Given the description of an element on the screen output the (x, y) to click on. 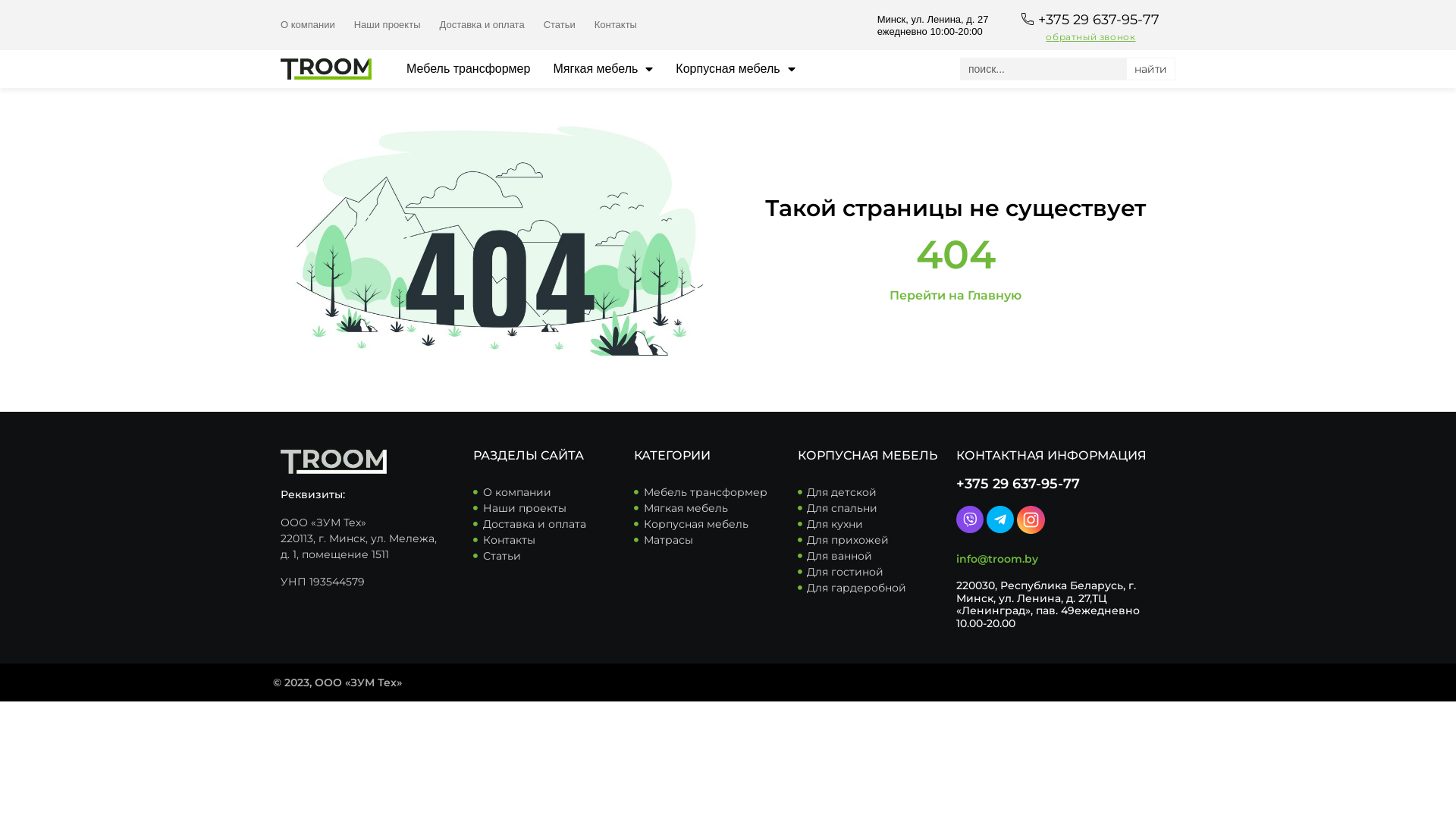
+375 29 637-95-77 Element type: text (1017, 483)
+375 29 637-95-77 Element type: text (1098, 18)
info@troom.by Element type: text (997, 558)
